Given the description of an element on the screen output the (x, y) to click on. 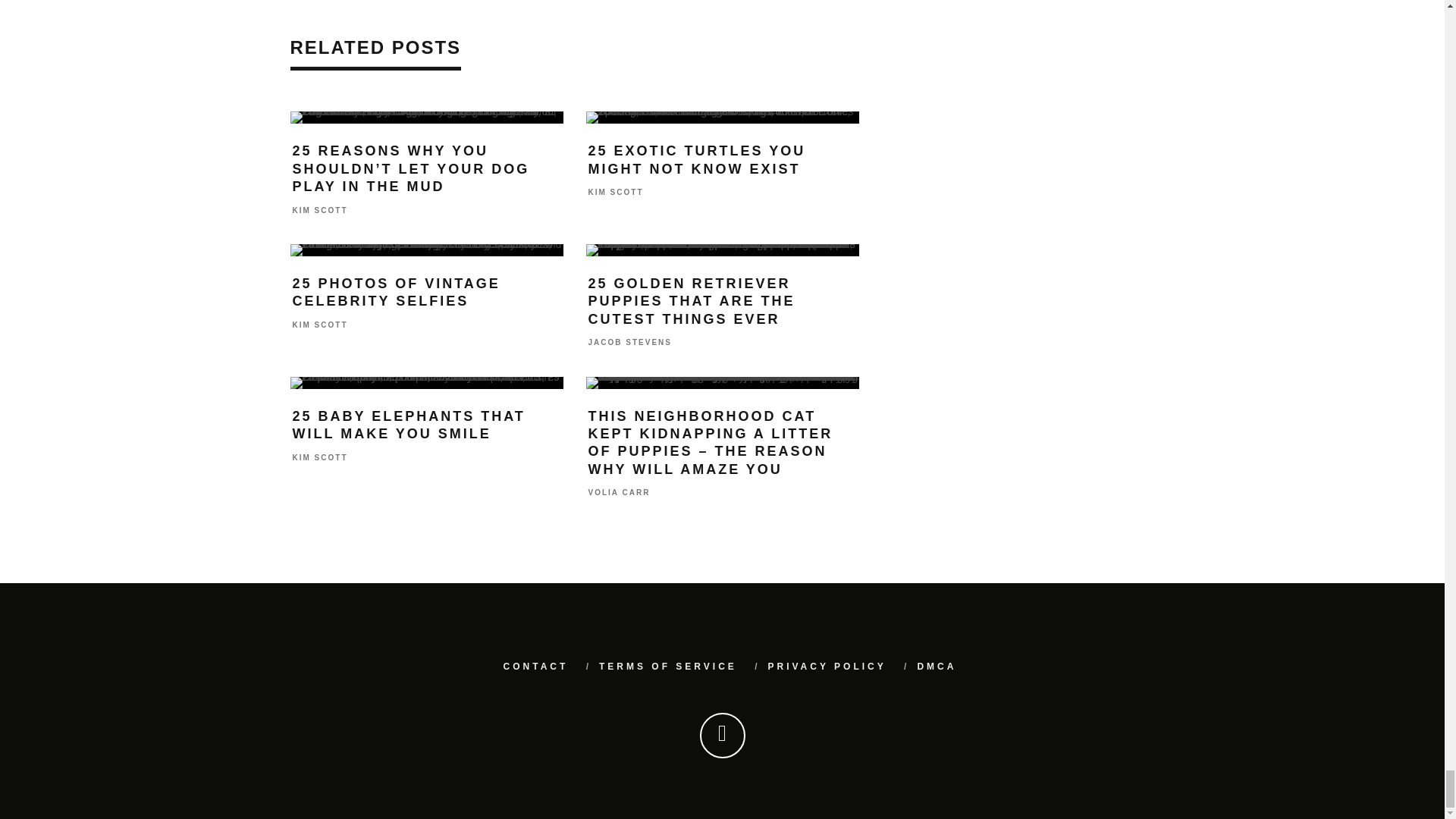
KIM SCOTT (319, 210)
JACOB STEVENS (629, 343)
25 BABY ELEPHANTS THAT WILL MAKE YOU SMILE (408, 424)
KIM SCOTT (615, 192)
KIM SCOTT (319, 457)
25 GOLDEN RETRIEVER PUPPIES THAT ARE THE CUTEST THINGS EVER (691, 301)
25 EXOTIC TURTLES YOU MIGHT NOT KNOW EXIST (697, 159)
